Given the description of an element on the screen output the (x, y) to click on. 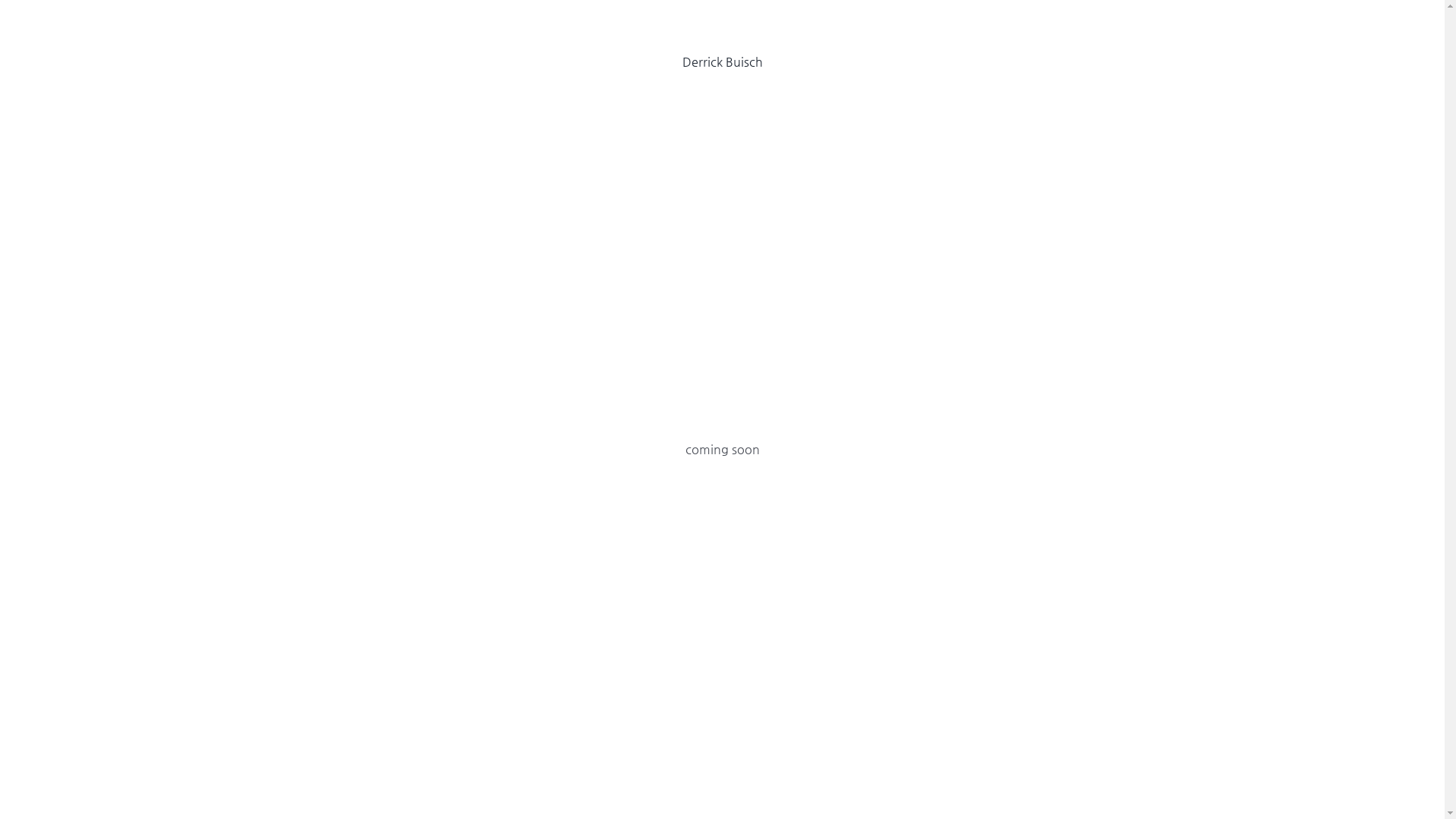
YouTube video player 1 Element type: hover (721, 252)
